Given the description of an element on the screen output the (x, y) to click on. 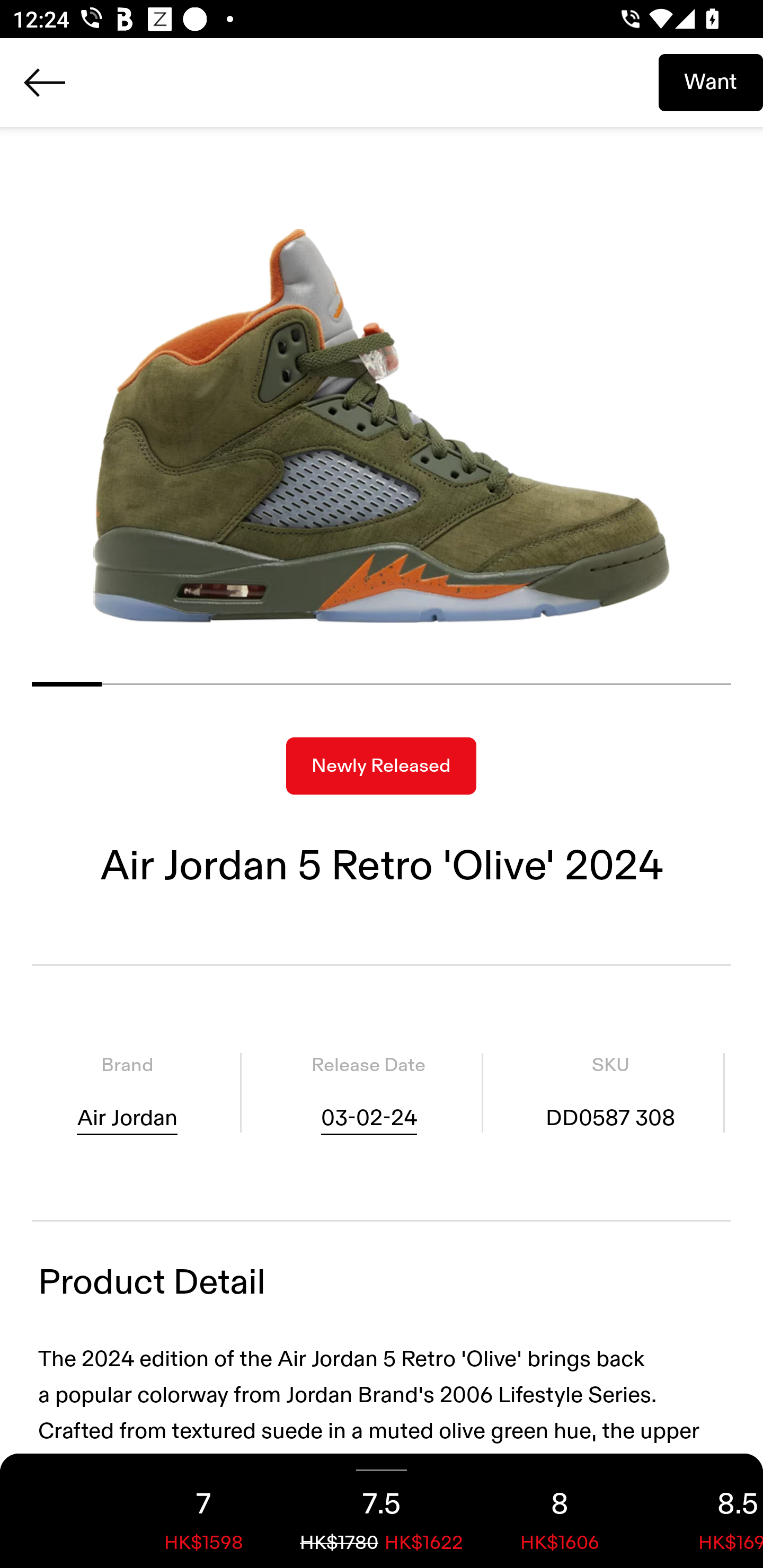
Want (710, 82)
Newly Released (381, 765)
Brand Air Jordan (126, 1092)
Release Date 03-02-24 (368, 1092)
SKU DD0587 308 (609, 1092)
7 HK$1598 (203, 1510)
7.5 HK$1780 HK$1622 (381, 1510)
8 HK$1606 (559, 1510)
8.5 HK$1693 (705, 1510)
